Given the description of an element on the screen output the (x, y) to click on. 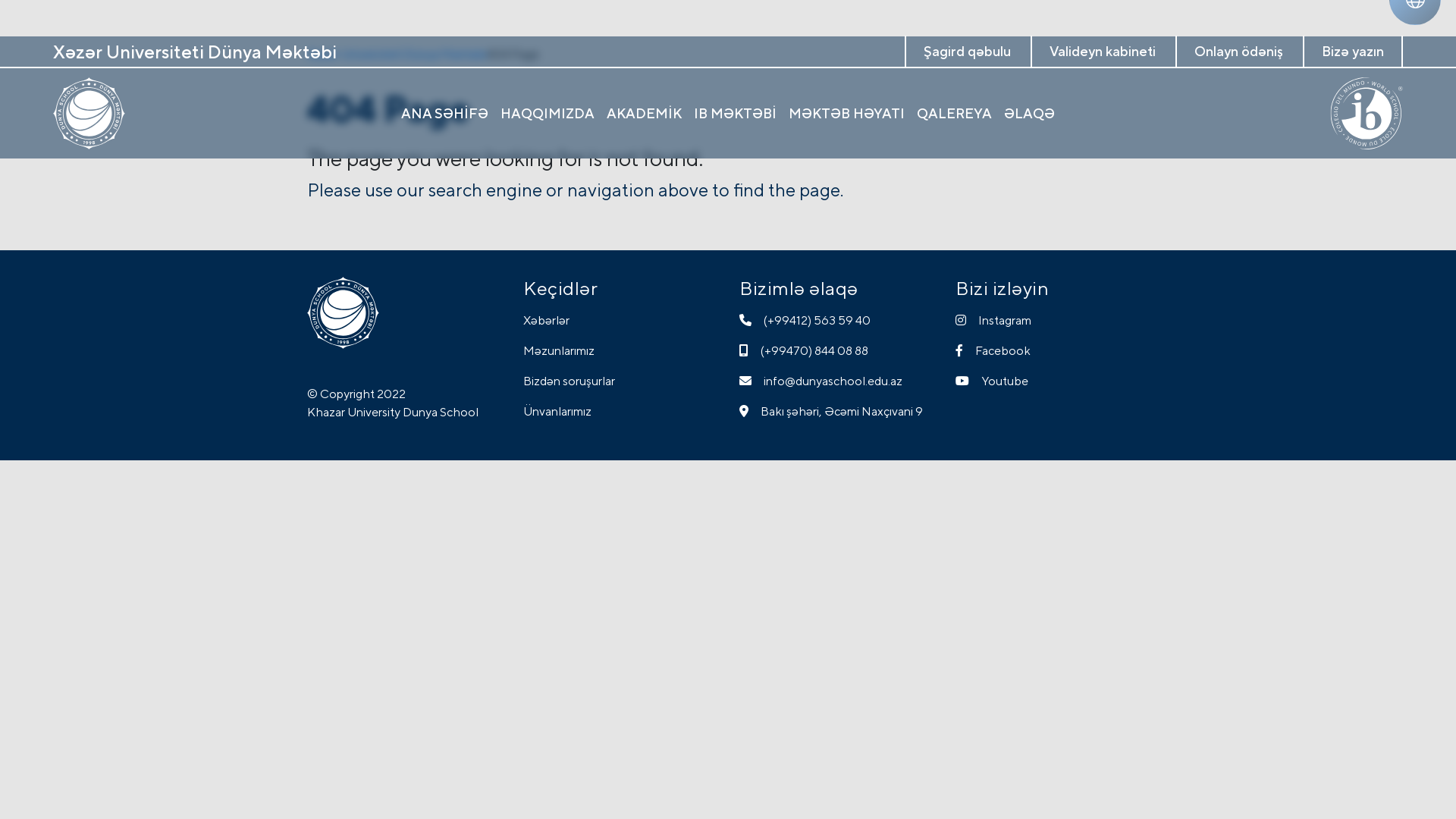
Facebook Element type: text (1051, 350)
QALEREYA Element type: text (953, 113)
Valideyn kabineti Element type: text (1101, 49)
Youtube Element type: text (1051, 381)
Instagram Element type: text (1051, 320)
HAQQIMIZDA Element type: text (547, 113)
